Given the description of an element on the screen output the (x, y) to click on. 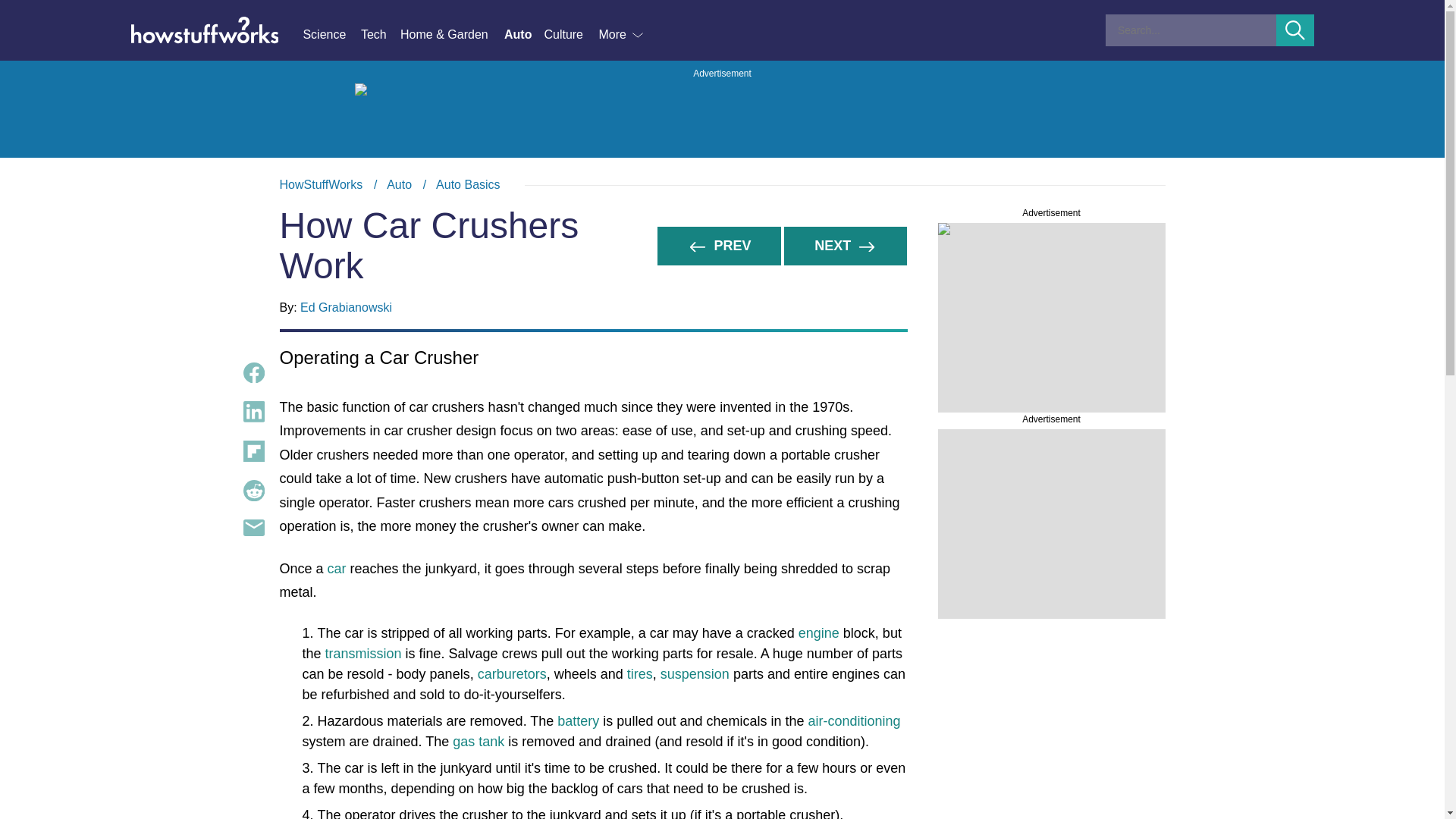
Culture (570, 34)
HowStuffWorks (320, 184)
Share Content on Facebook (253, 372)
Auto (399, 184)
More (621, 34)
Share Content on Reddit (253, 490)
Tech (380, 34)
Share Content on LinkedIn (253, 411)
Share Content via Email (721, 185)
